Given the description of an element on the screen output the (x, y) to click on. 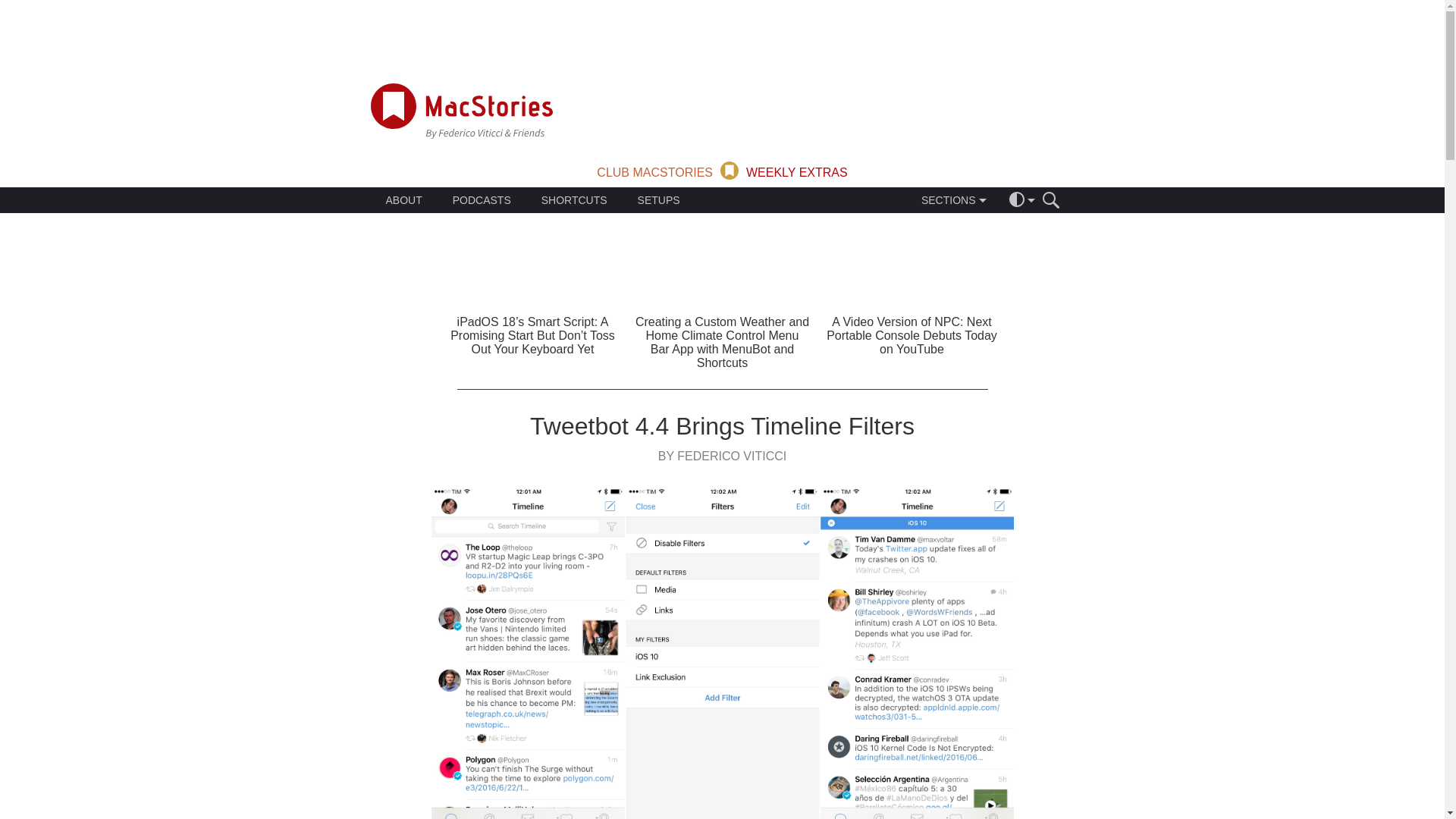
PODCASTS (481, 199)
SETUPS (658, 199)
CLUB MACSTORIESWEEKLY EXTRAS (721, 169)
ABOUT (403, 199)
SHORTCUTS (574, 199)
BY FEDERICO VITICCI (722, 455)
